Given the description of an element on the screen output the (x, y) to click on. 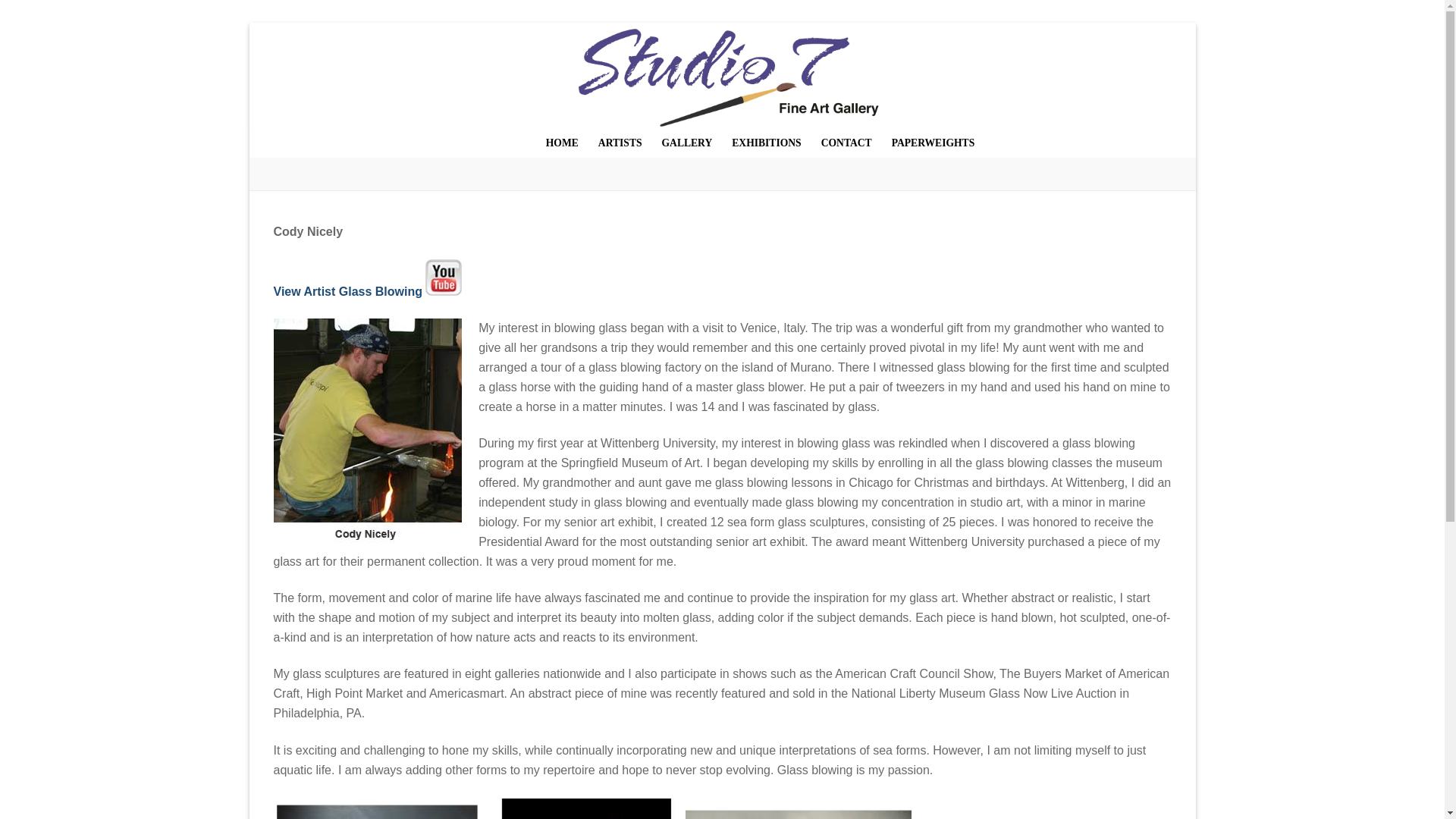
ARTISTS (620, 143)
swim-thru (581, 808)
GALLERY (687, 143)
EXHIBITIONS (766, 143)
starfish (798, 808)
View Artist Glass Blowing (347, 291)
HOME (561, 143)
the-one-that-got-away (376, 808)
CONTACT (846, 143)
PAPERWEIGHTS (933, 143)
